Given the description of an element on the screen output the (x, y) to click on. 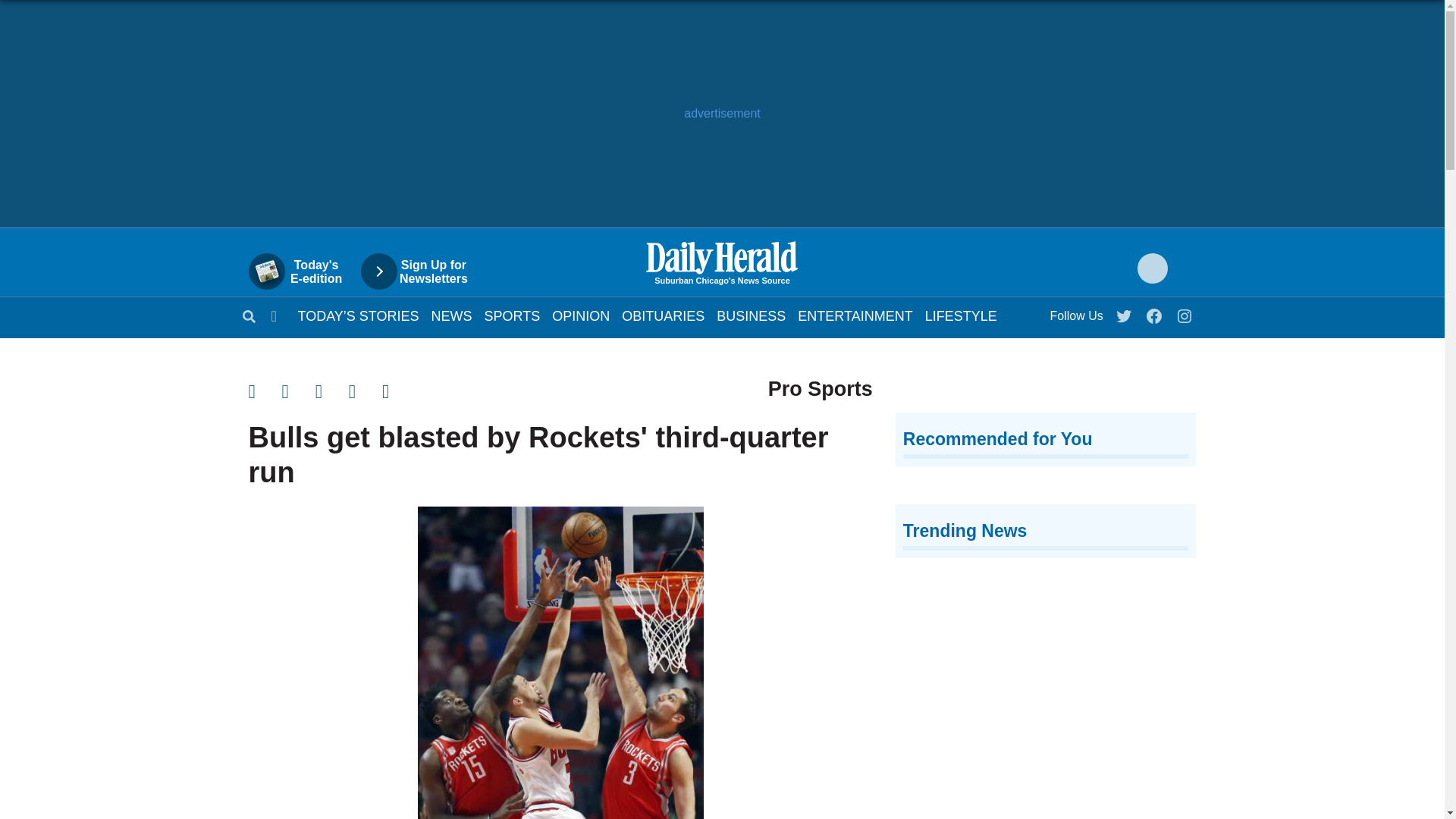
LIFESTYLE (960, 315)
Facebook (1155, 312)
NEWS (450, 315)
Obituaries (662, 315)
Instagram (1184, 312)
Entertainment (854, 315)
Share via Email (332, 391)
Twitter (1124, 312)
Sports (512, 315)
Business (751, 315)
